Given the description of an element on the screen output the (x, y) to click on. 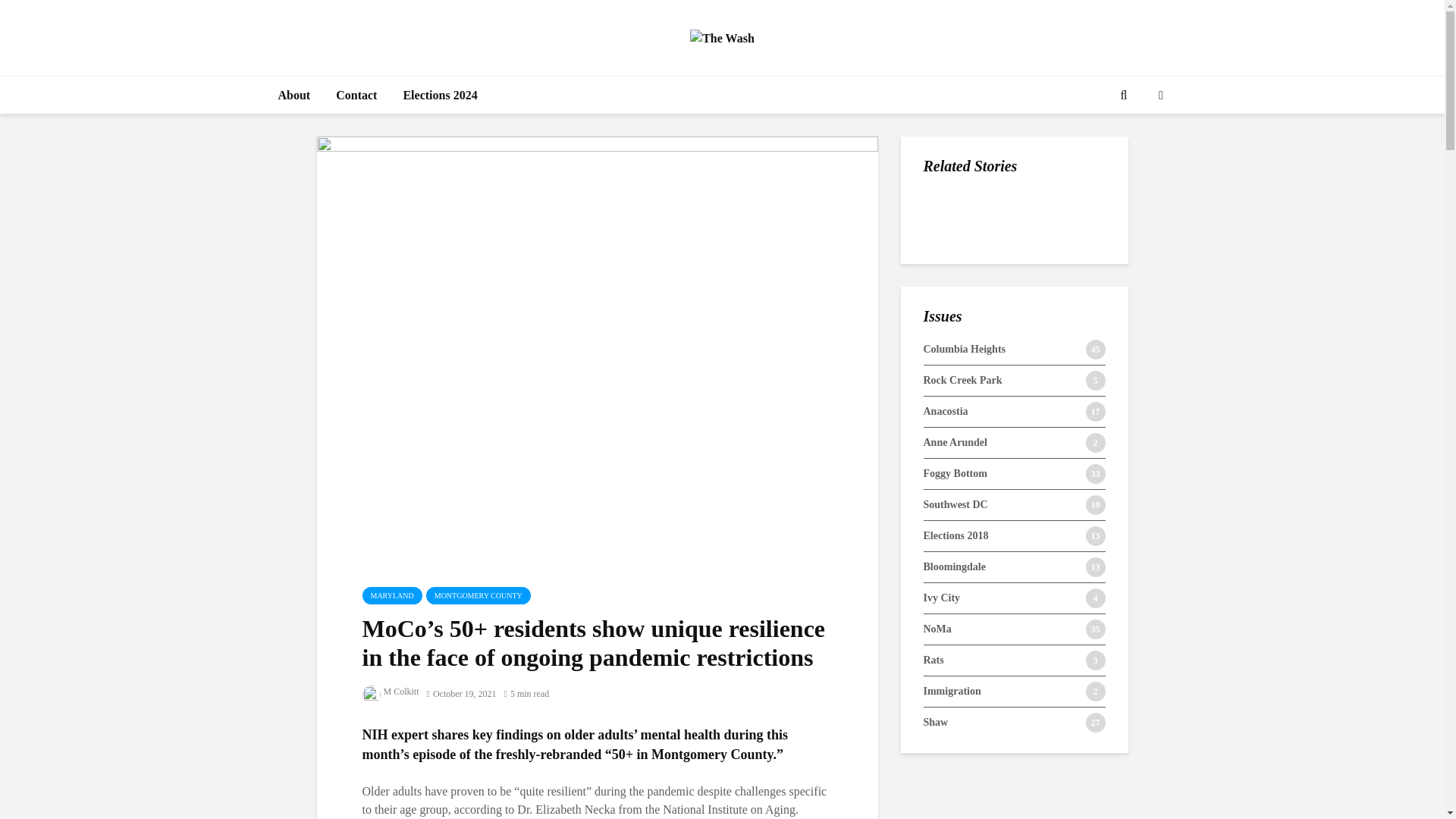
Elections 2024 (439, 95)
M Colkitt (390, 691)
Contact (356, 95)
MONTGOMERY COUNTY (478, 595)
MARYLAND (392, 595)
About (293, 95)
